Given the description of an element on the screen output the (x, y) to click on. 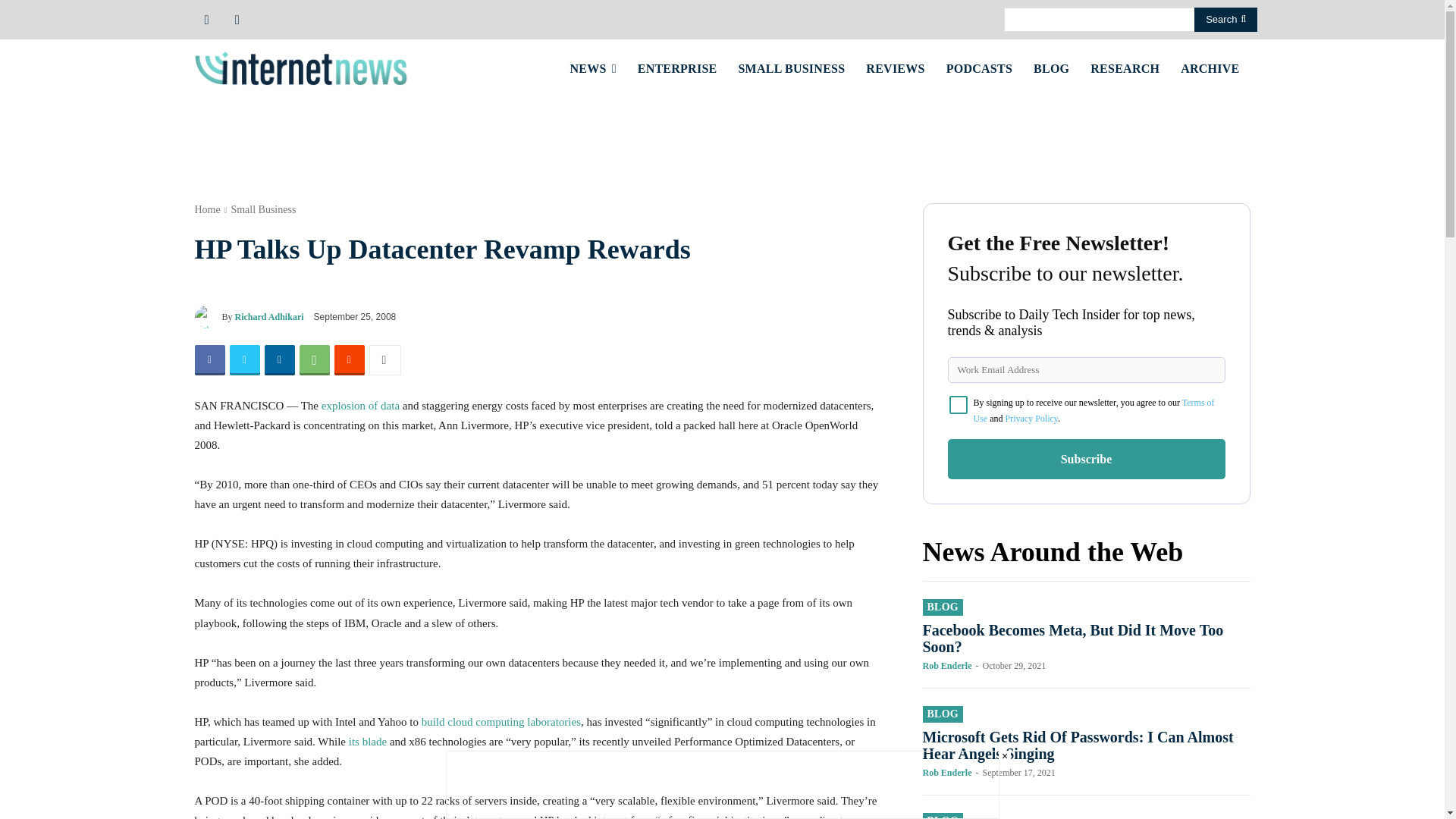
REVIEWS (895, 68)
WhatsApp (313, 359)
PODCASTS (979, 68)
Twitter (236, 18)
Facebook (208, 359)
Linkedin (278, 359)
BLOG (1051, 68)
More (384, 359)
ENTERPRISE (677, 68)
ReddIt (348, 359)
ARCHIVE (1209, 68)
Twitter (243, 359)
Search (1225, 19)
NEWS (593, 68)
Richard Adhikari (207, 316)
